Given the description of an element on the screen output the (x, y) to click on. 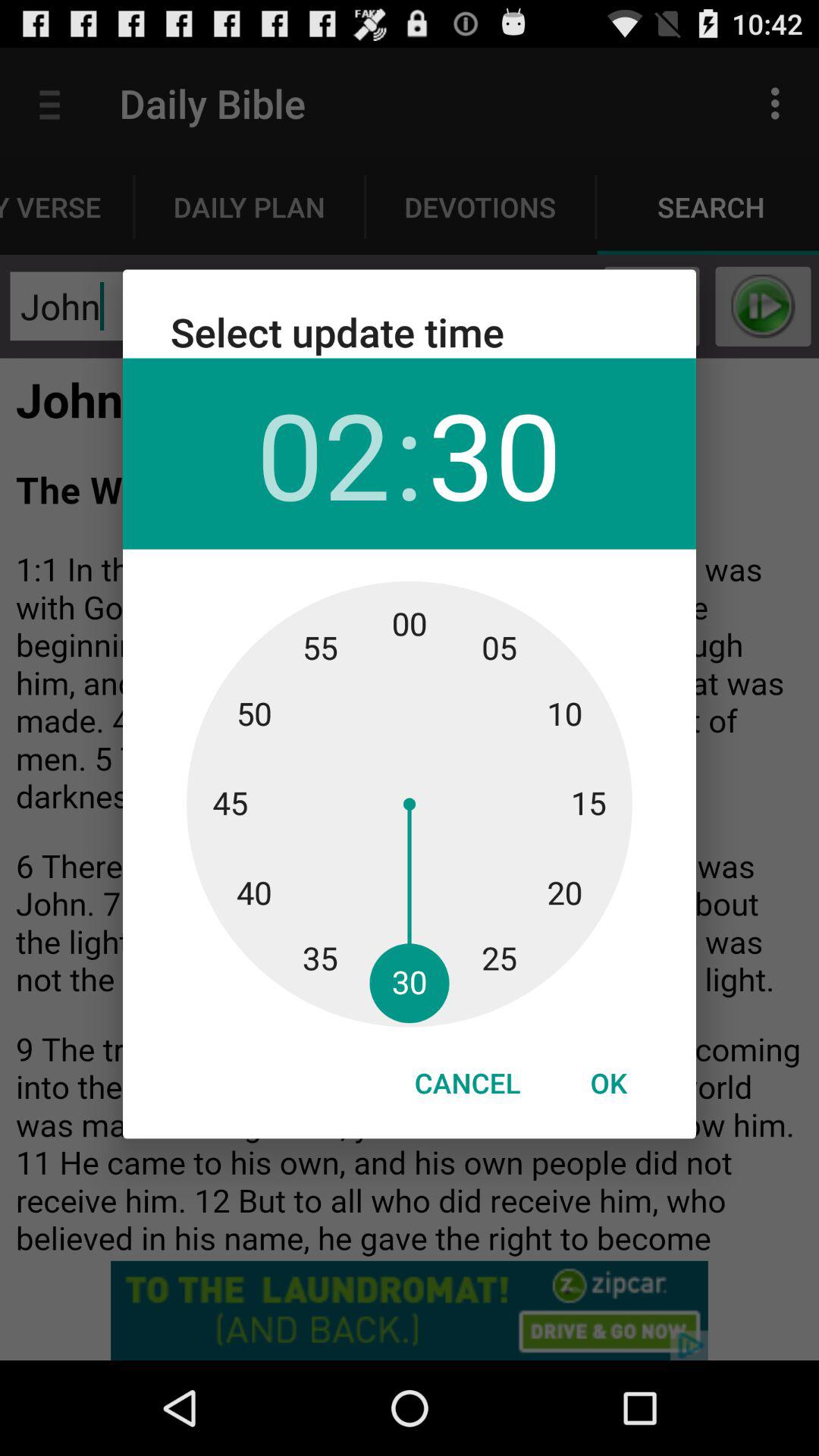
open icon to the right of : icon (494, 453)
